Given the description of an element on the screen output the (x, y) to click on. 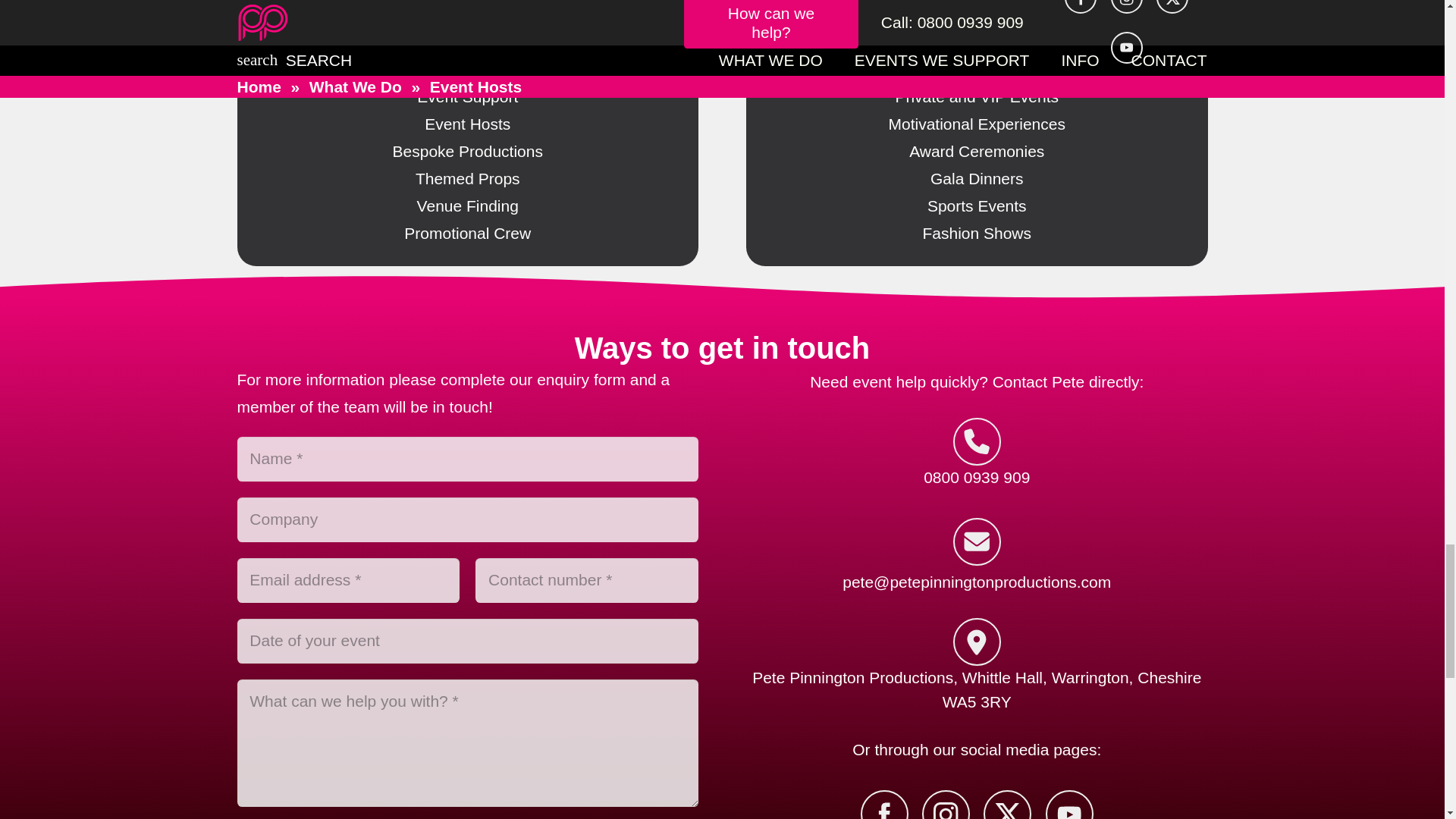
location (977, 641)
Phone (977, 441)
Instagram (945, 804)
Facebook (884, 804)
X (1007, 804)
E-mail (977, 541)
YouTube (1069, 804)
